Given the description of an element on the screen output the (x, y) to click on. 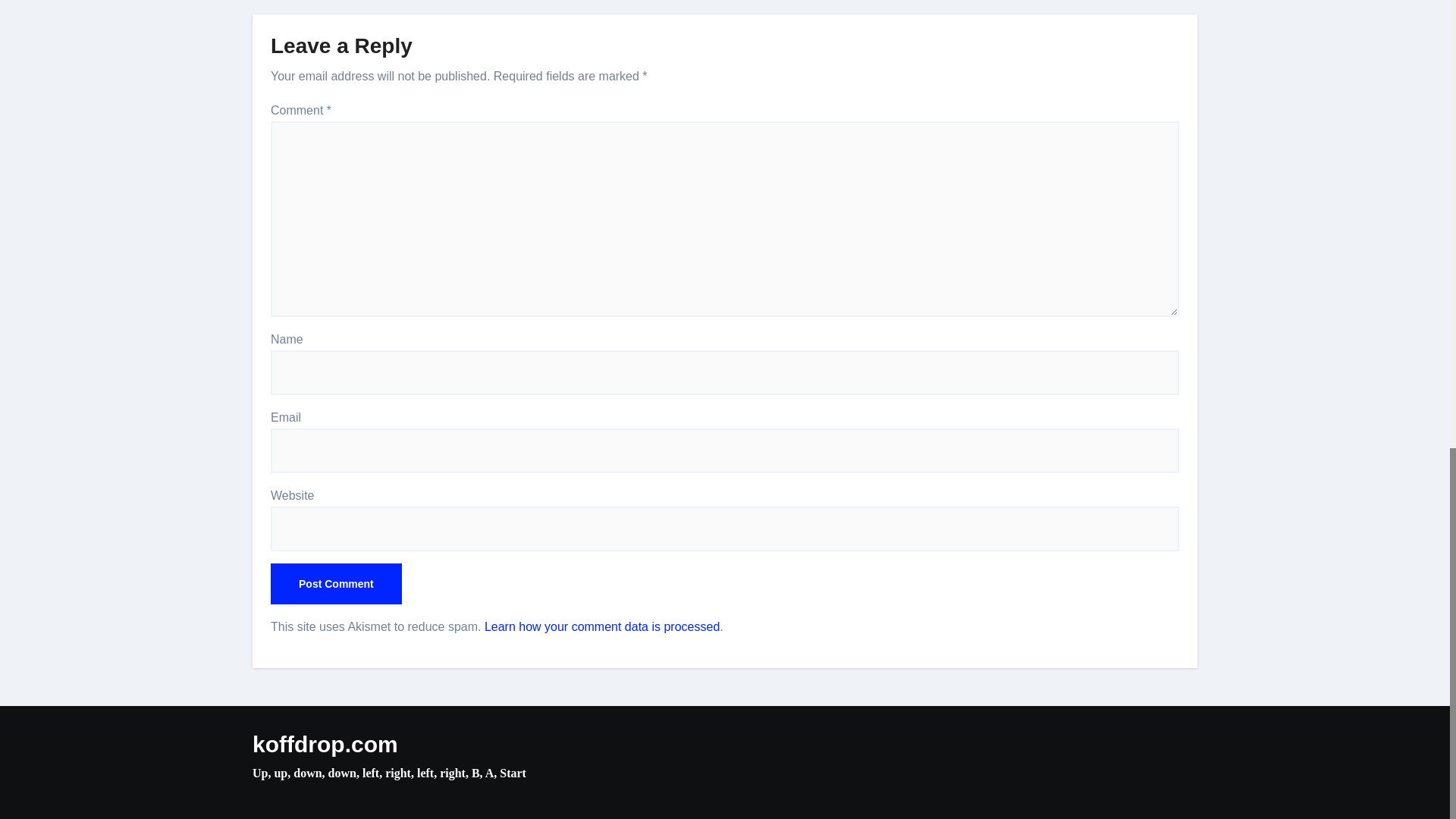
Post Comment (335, 583)
Learn how your comment data is processed (601, 626)
Post Comment (335, 583)
koffdrop.com (324, 744)
